Given the description of an element on the screen output the (x, y) to click on. 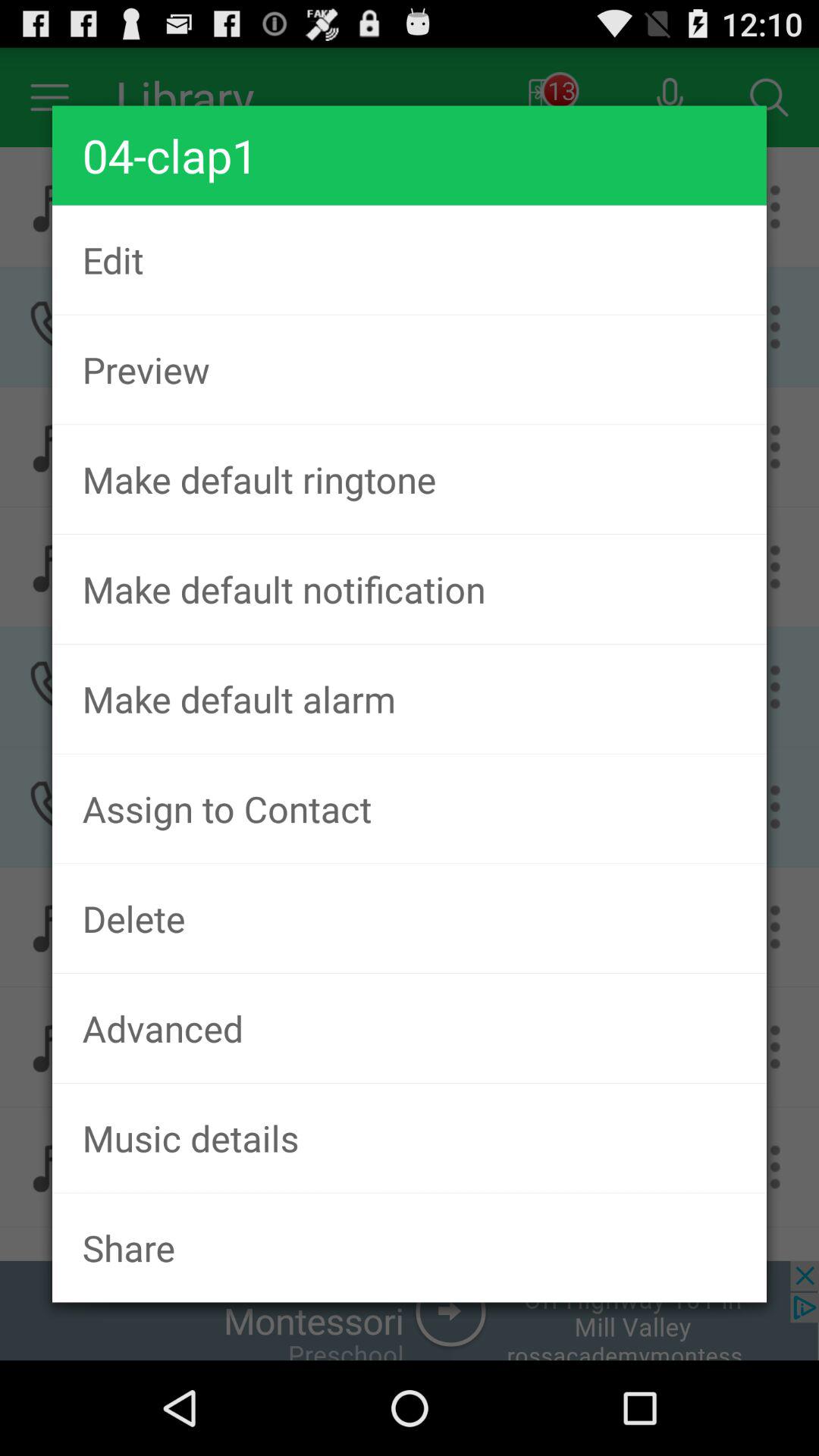
choose app below edit icon (409, 369)
